Given the description of an element on the screen output the (x, y) to click on. 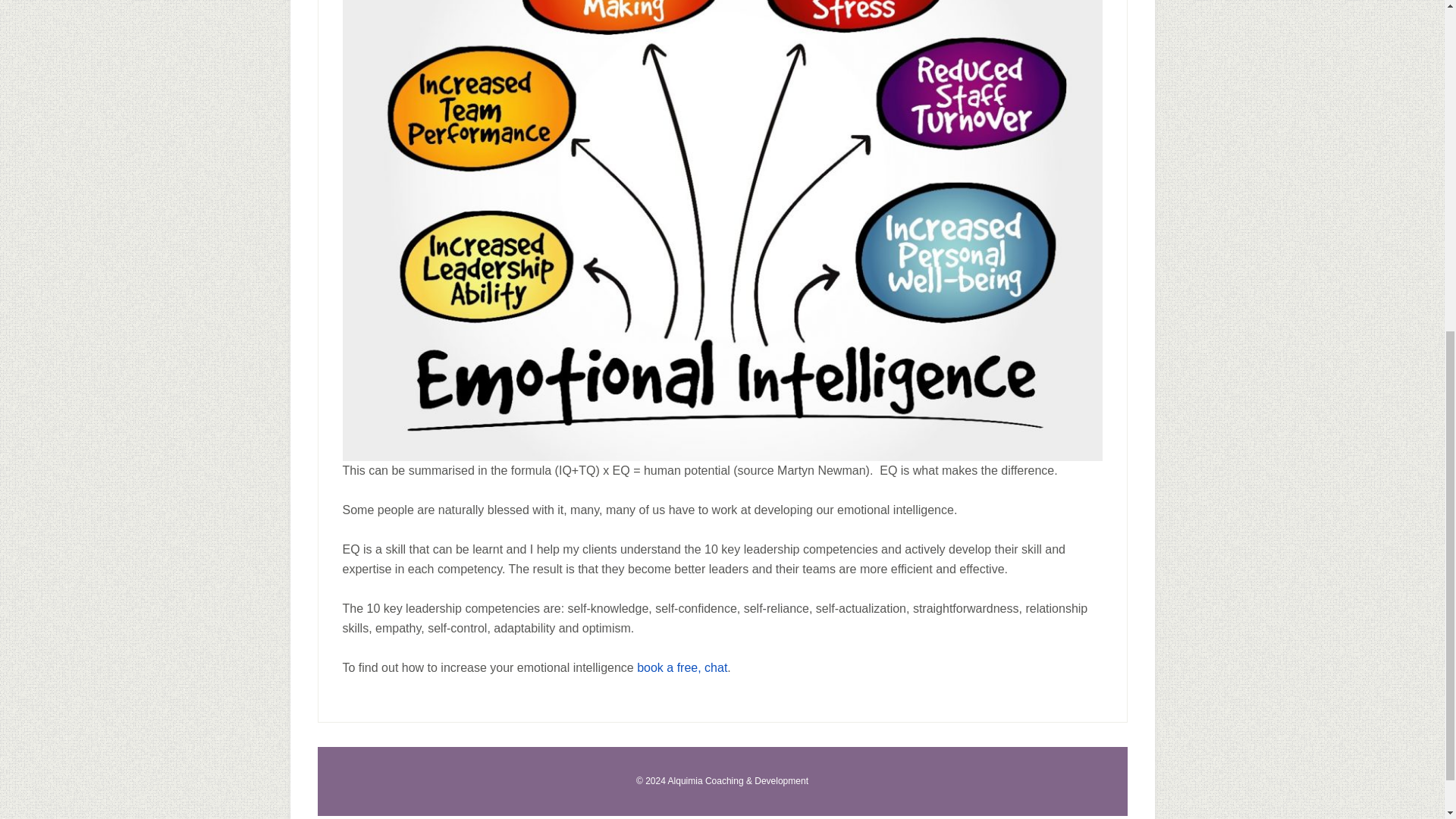
book a free, chat (681, 667)
